Given the description of an element on the screen output the (x, y) to click on. 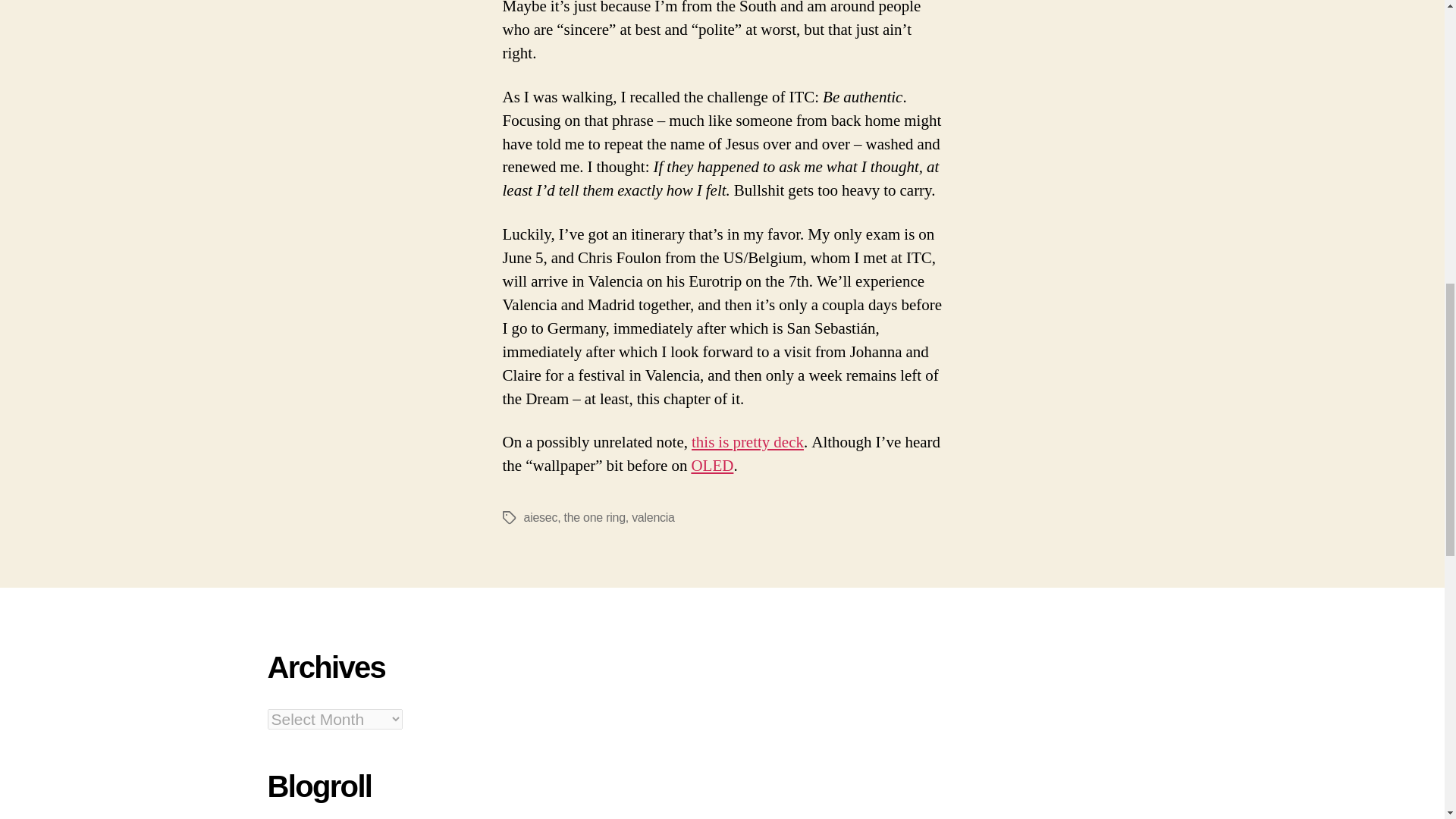
OLED (711, 465)
aiesec (539, 517)
this is pretty deck (747, 442)
valencia (653, 517)
the one ring (595, 517)
